Given the description of an element on the screen output the (x, y) to click on. 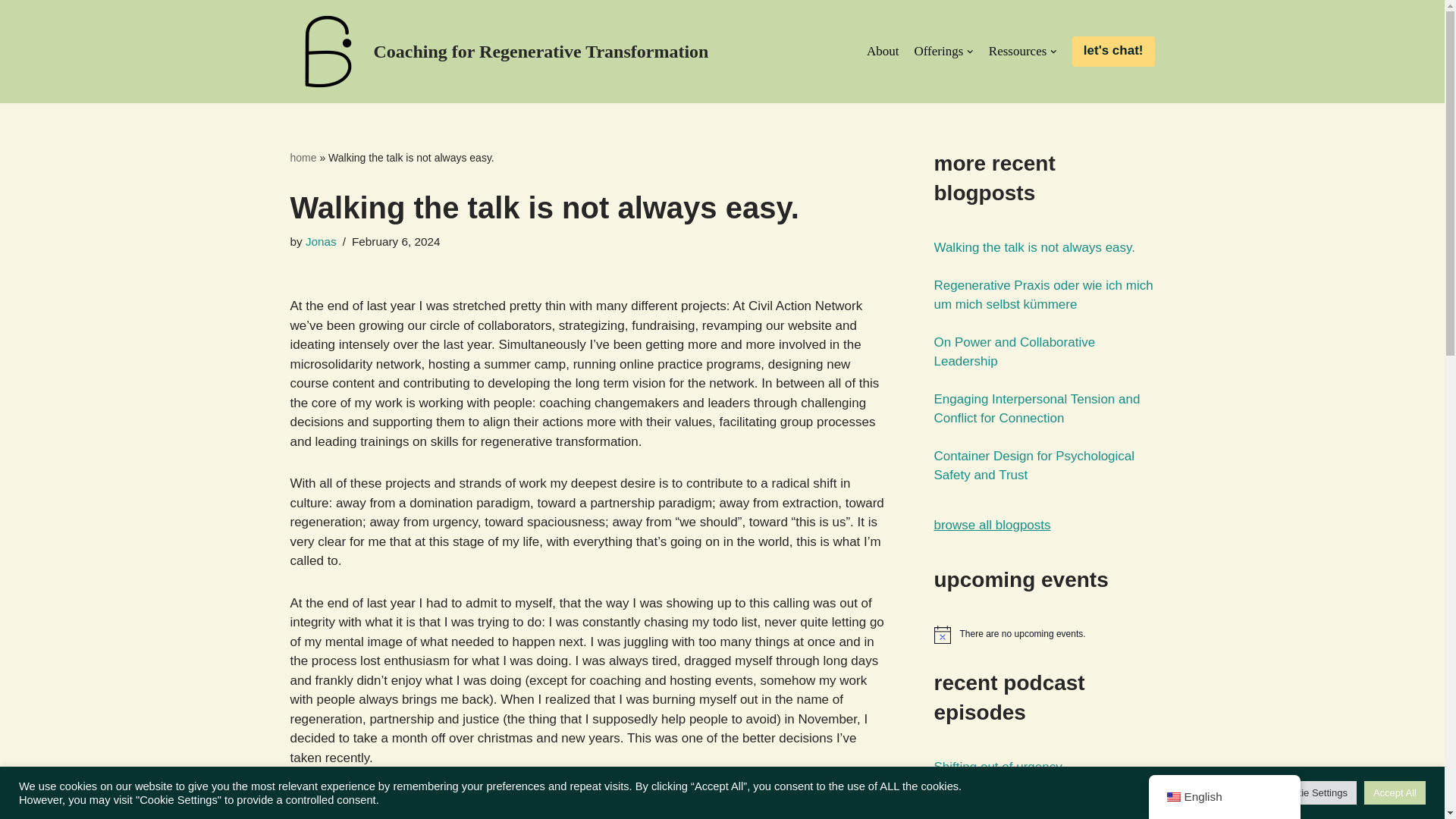
Posts by Jonas (320, 241)
About (882, 50)
Ressources (1022, 50)
Jonas (320, 241)
Container Design for Psychological Safety and Trust (1034, 465)
Skip to content (11, 31)
Walking the talk is not always easy. (1034, 247)
Coaching for Regenerative Transformation (498, 51)
On Power and Collaborative Leadership (1015, 351)
Coaching for Regenerative Transformation (498, 51)
home (302, 157)
let's chat! (1112, 51)
Shifting out of urgency (998, 766)
Engaging Interpersonal Tension and Conflict for Connection (1037, 408)
browse all blogposts (992, 524)
